Given the description of an element on the screen output the (x, y) to click on. 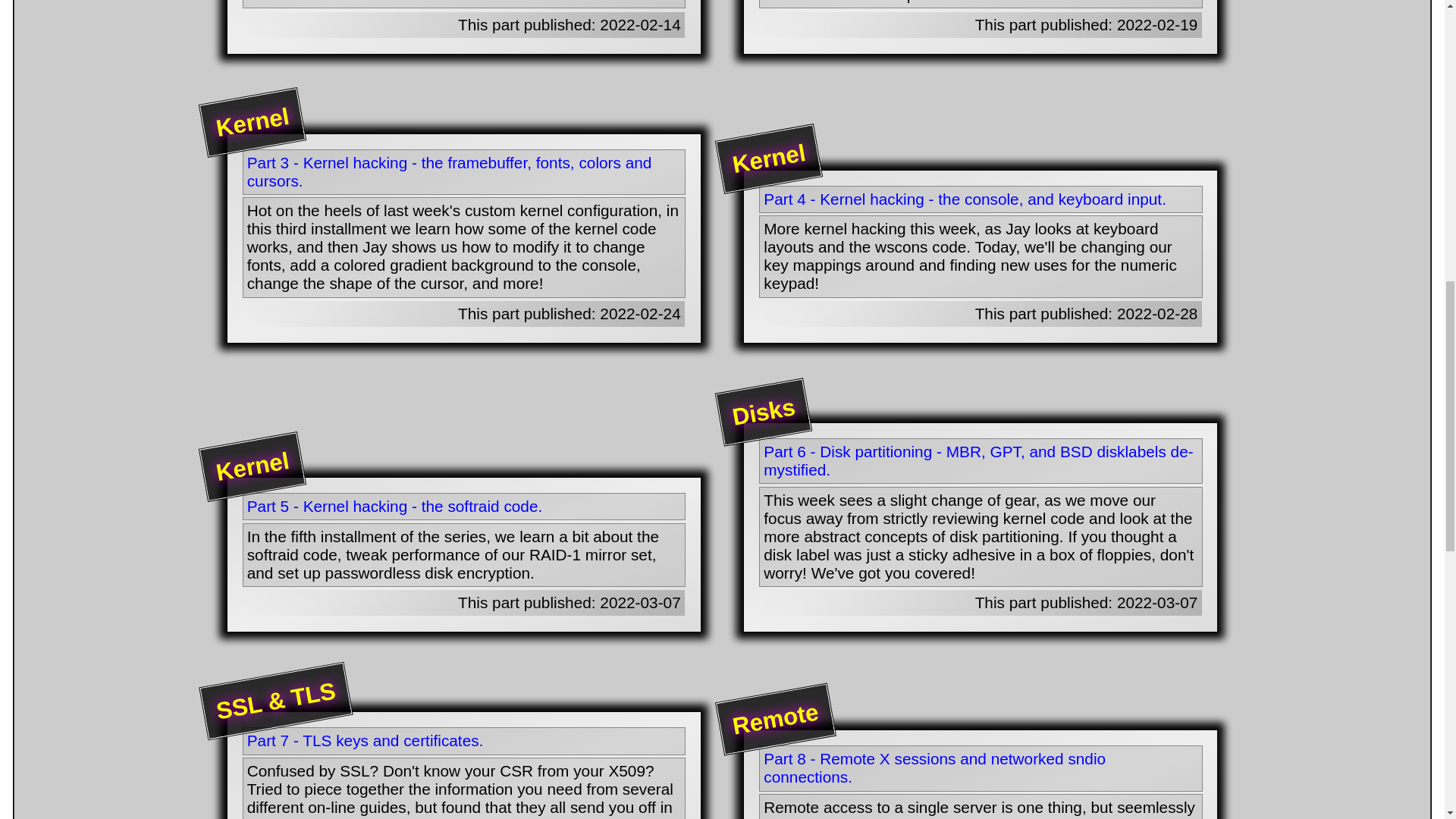
Part 5 - Kernel hacking - the softraid code. (464, 506)
Part 4 - Kernel hacking - the console, and keyboard input. (979, 199)
Part 7 - TLS keys and certificates. (464, 741)
Part 8 - Remote X sessions and networked sndio connections. (979, 768)
